Given the description of an element on the screen output the (x, y) to click on. 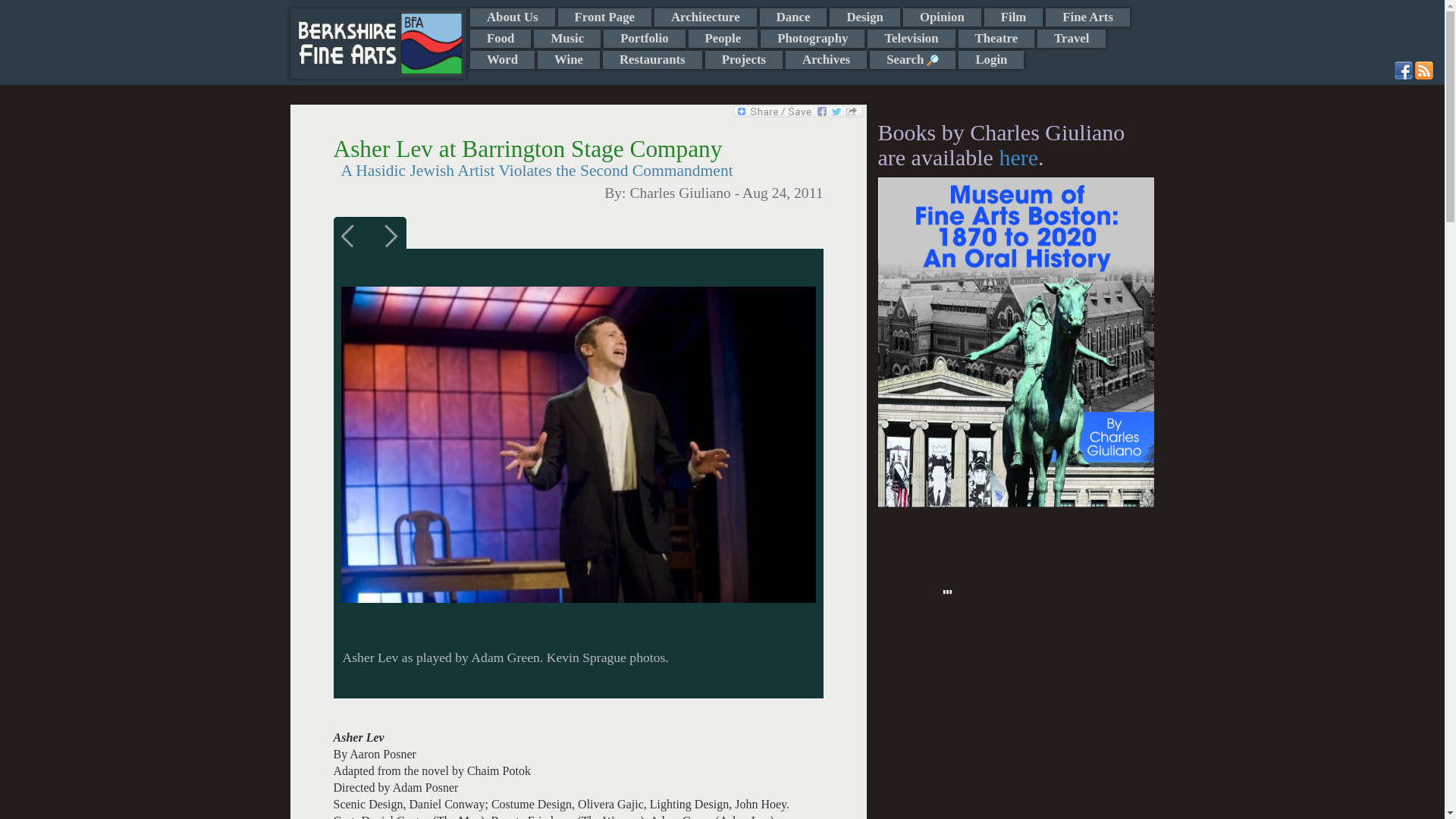
Music (566, 38)
Film (1013, 17)
Food (500, 38)
Opinion (941, 17)
About Us (512, 17)
Design (864, 17)
Front Page (603, 17)
Dance (793, 17)
Architecture (705, 17)
Fine Arts (1087, 17)
